Given the description of an element on the screen output the (x, y) to click on. 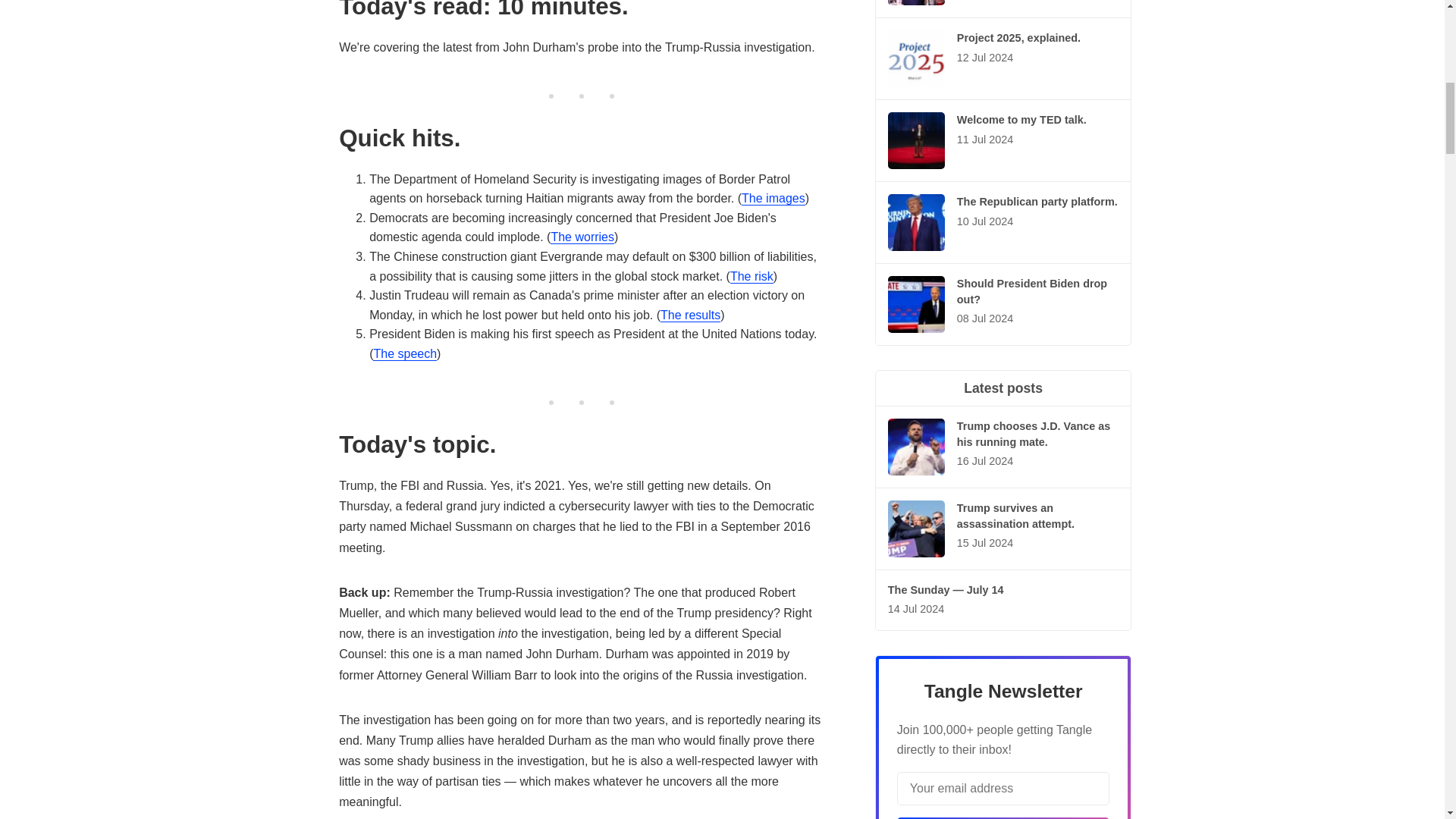
The images (773, 198)
The worries (582, 237)
The speech (404, 354)
The results (690, 315)
The risk (751, 276)
